Given the description of an element on the screen output the (x, y) to click on. 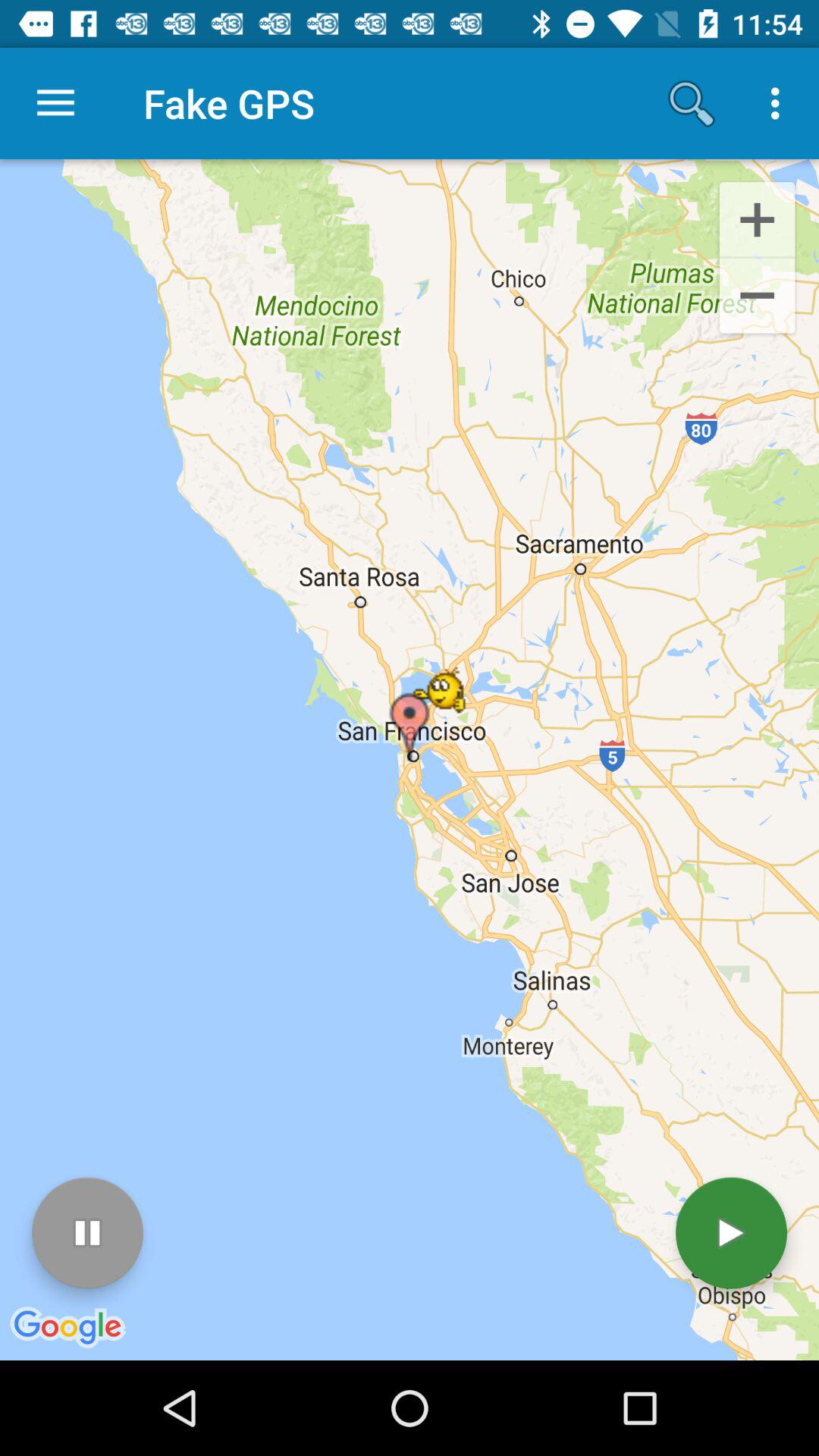
open the icon to the left of the fake gps item (55, 103)
